Given the description of an element on the screen output the (x, y) to click on. 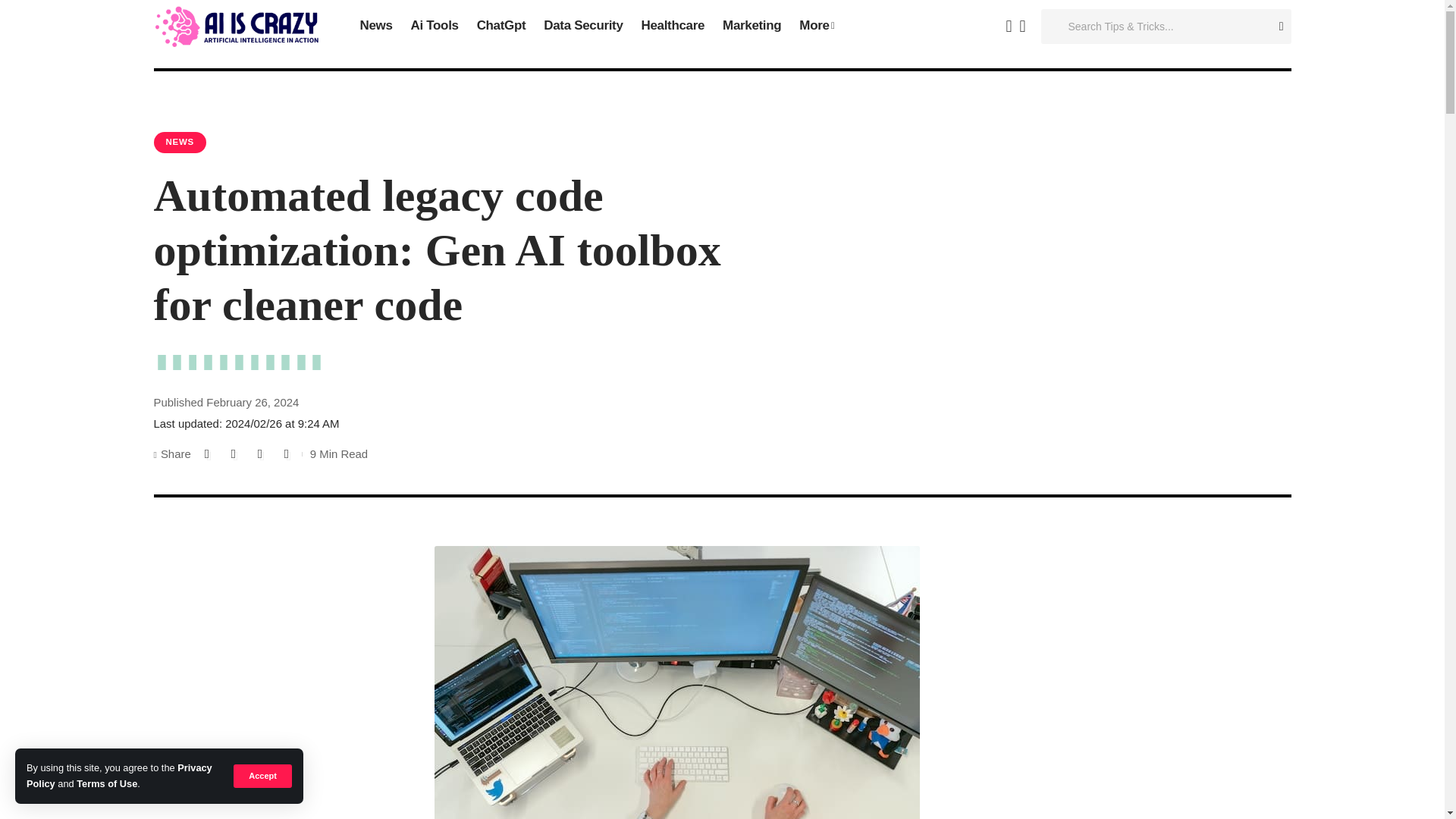
Accept (262, 775)
Ai Tools (434, 26)
Healthcare (672, 26)
Marketing (751, 26)
Privacy Policy (119, 775)
Search (1275, 26)
ChatGpt (501, 26)
News (375, 26)
More (816, 26)
Data Security (582, 26)
